Given the description of an element on the screen output the (x, y) to click on. 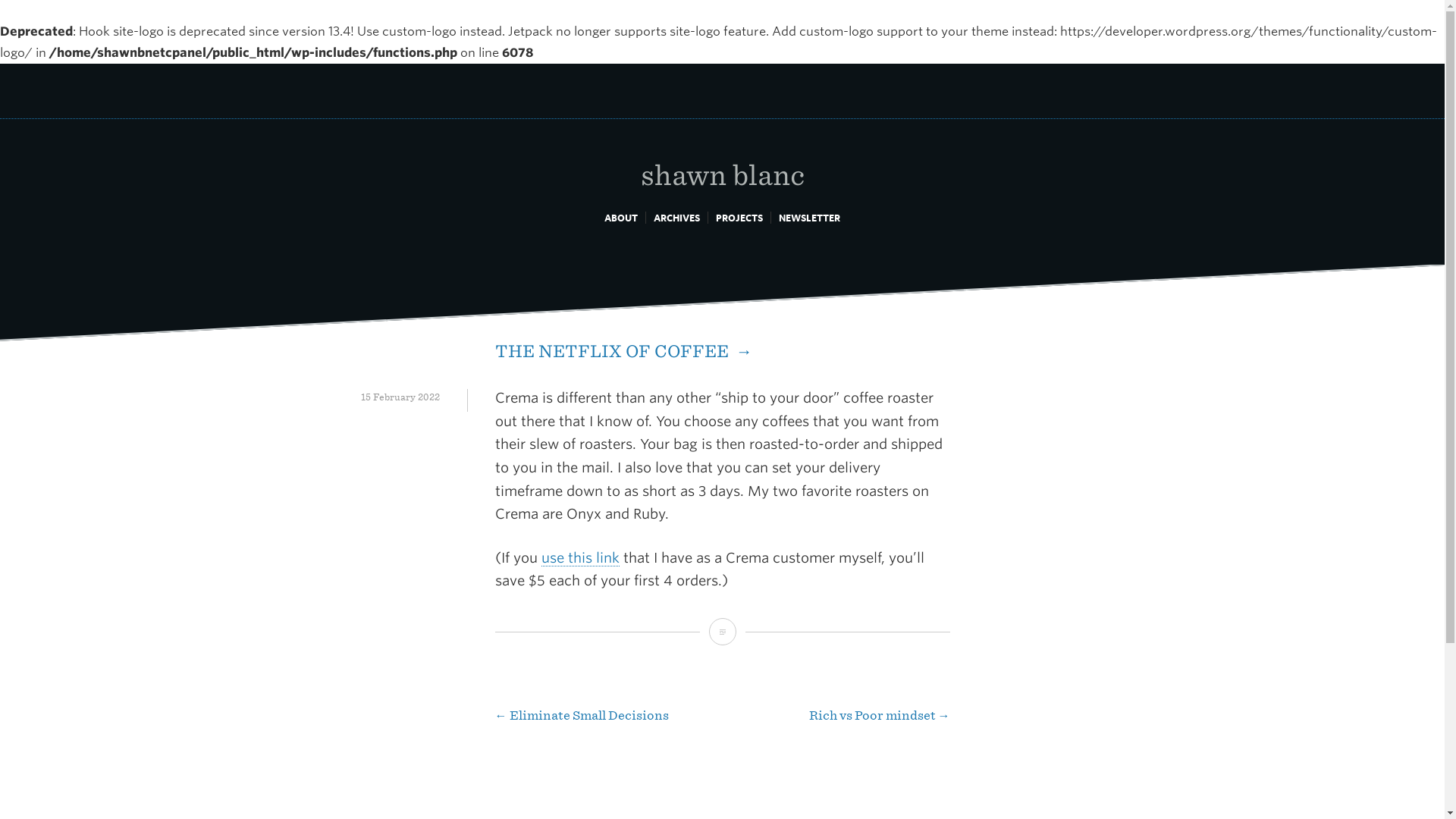
PROJECTS (739, 217)
The Netflix of Coffee (721, 631)
15 February 2022 (400, 396)
use this link (580, 557)
ARCHIVES (676, 217)
NEWSLETTER (809, 217)
The Netflix of Coffee (623, 351)
shawn blanc (721, 157)
ABOUT (620, 217)
